Given the description of an element on the screen output the (x, y) to click on. 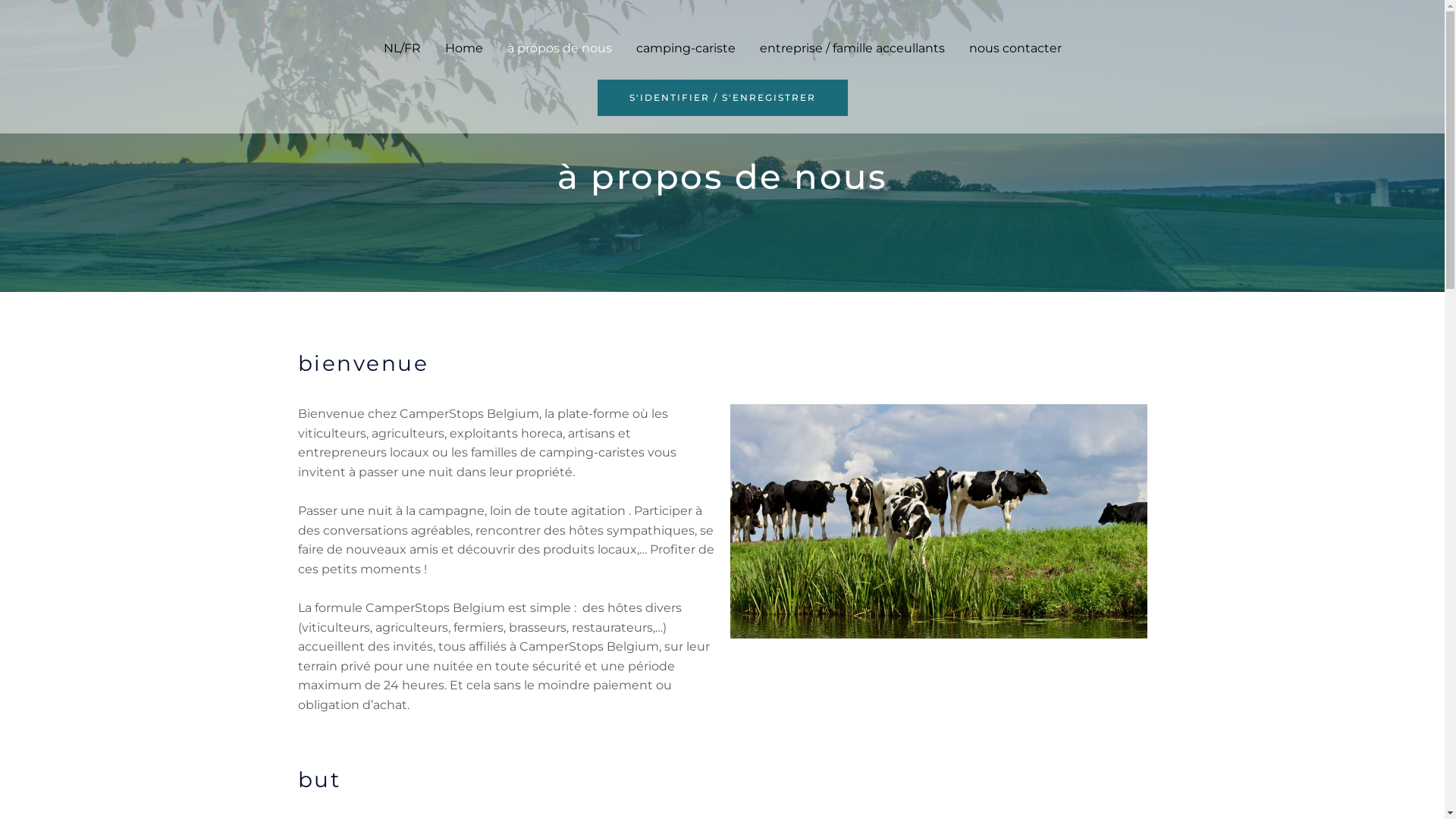
camping-cariste Element type: text (684, 48)
Home Element type: text (463, 48)
entreprise / famille acceullants Element type: text (852, 48)
nous contacter Element type: text (1015, 48)
NL/FR Element type: text (402, 48)
S'IDENTIFIER / S'ENREGISTRER Element type: text (722, 97)
